Given the description of an element on the screen output the (x, y) to click on. 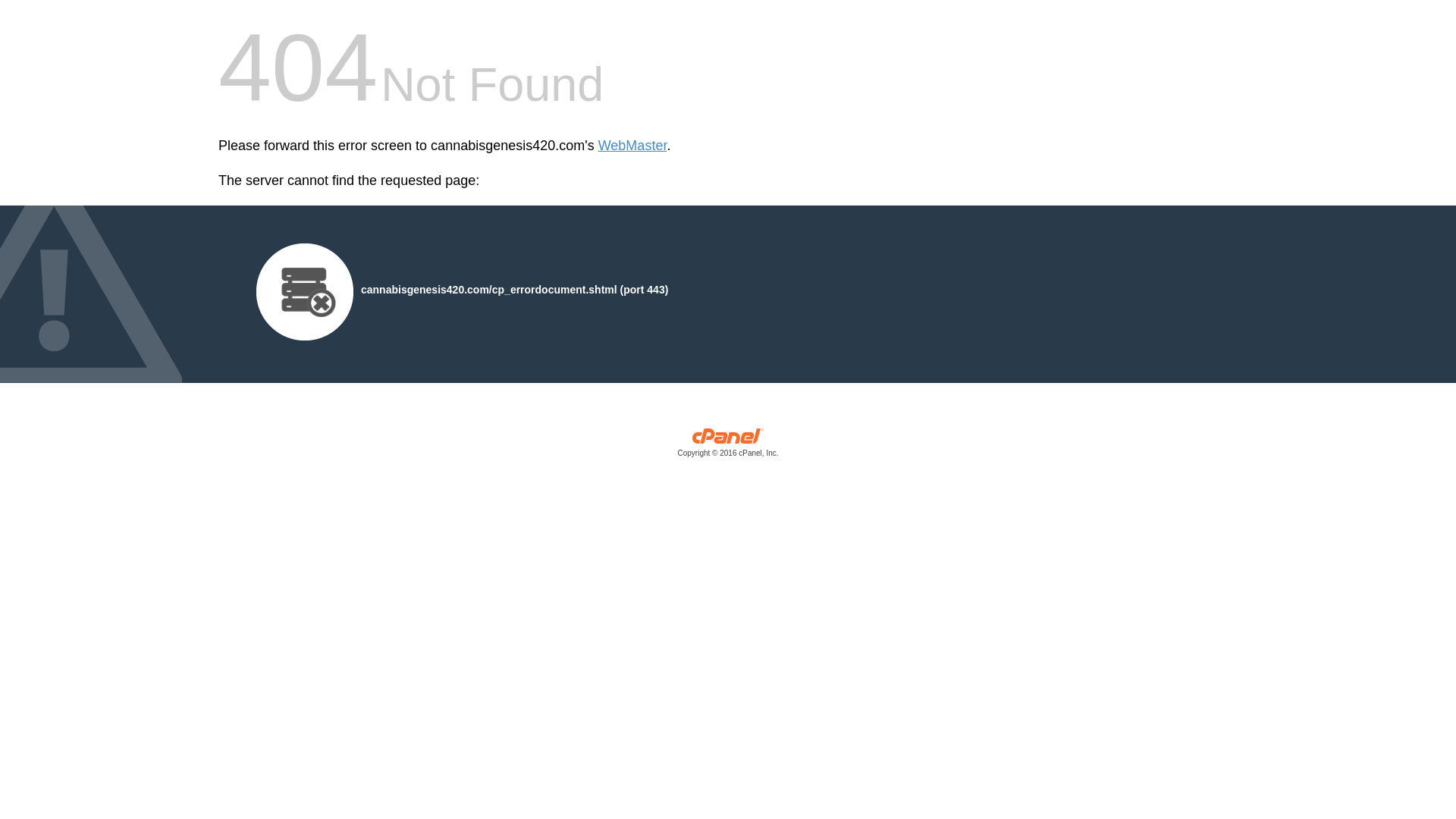
cPanel, Inc. (727, 446)
WebMaster (632, 145)
